Given the description of an element on the screen output the (x, y) to click on. 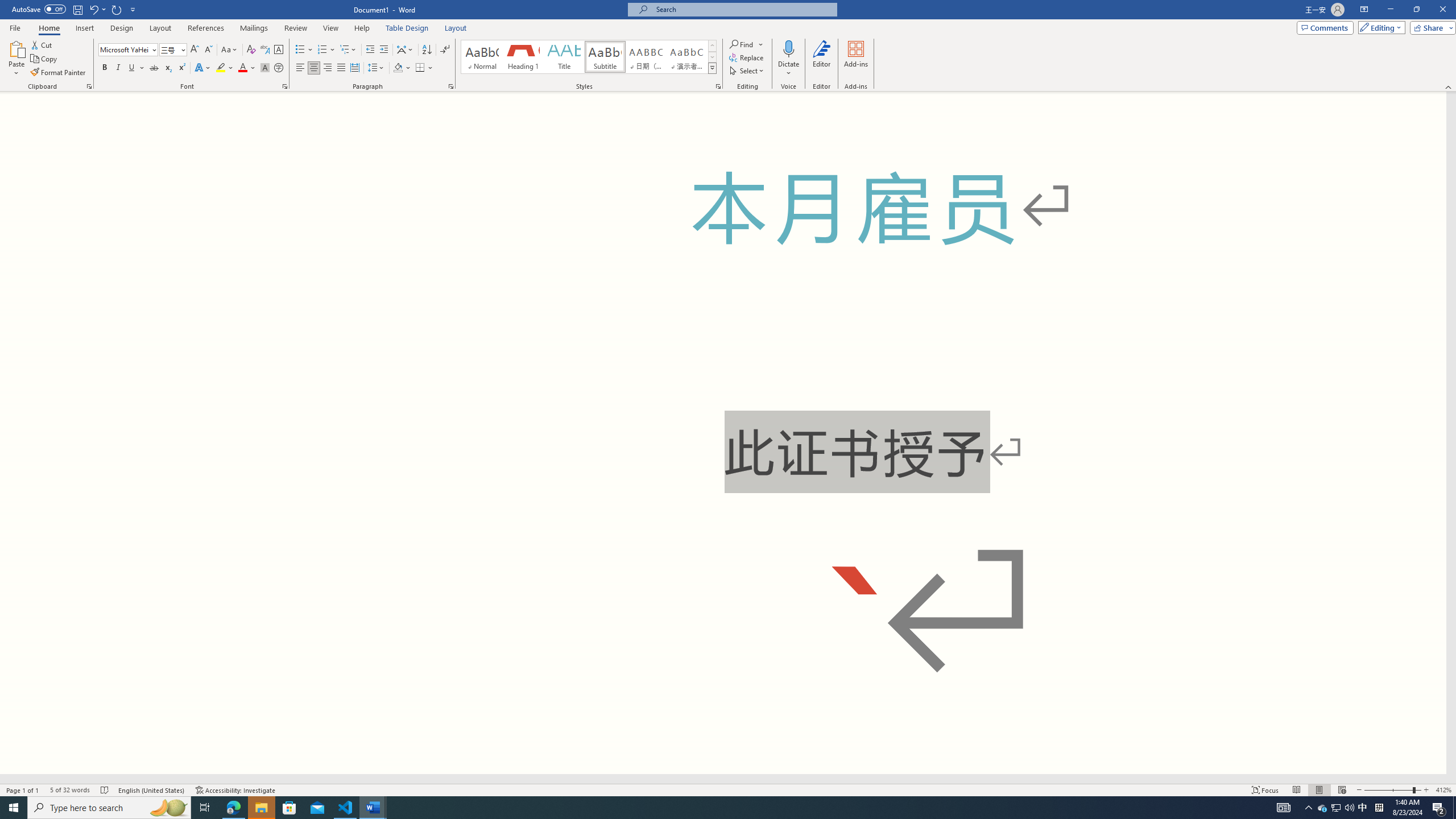
Increase Indent (383, 49)
Page 1 content (722, 432)
Underline (131, 67)
Multilevel List (347, 49)
Copy (45, 58)
Font... (285, 85)
Zoom Out (1388, 790)
Ribbon Display Options (1364, 9)
Font (128, 49)
Zoom 412% (1443, 790)
Align Left (300, 67)
Subtitle (605, 56)
Text Effects and Typography (202, 67)
Underline (136, 67)
Layout (455, 28)
